Given the description of an element on the screen output the (x, y) to click on. 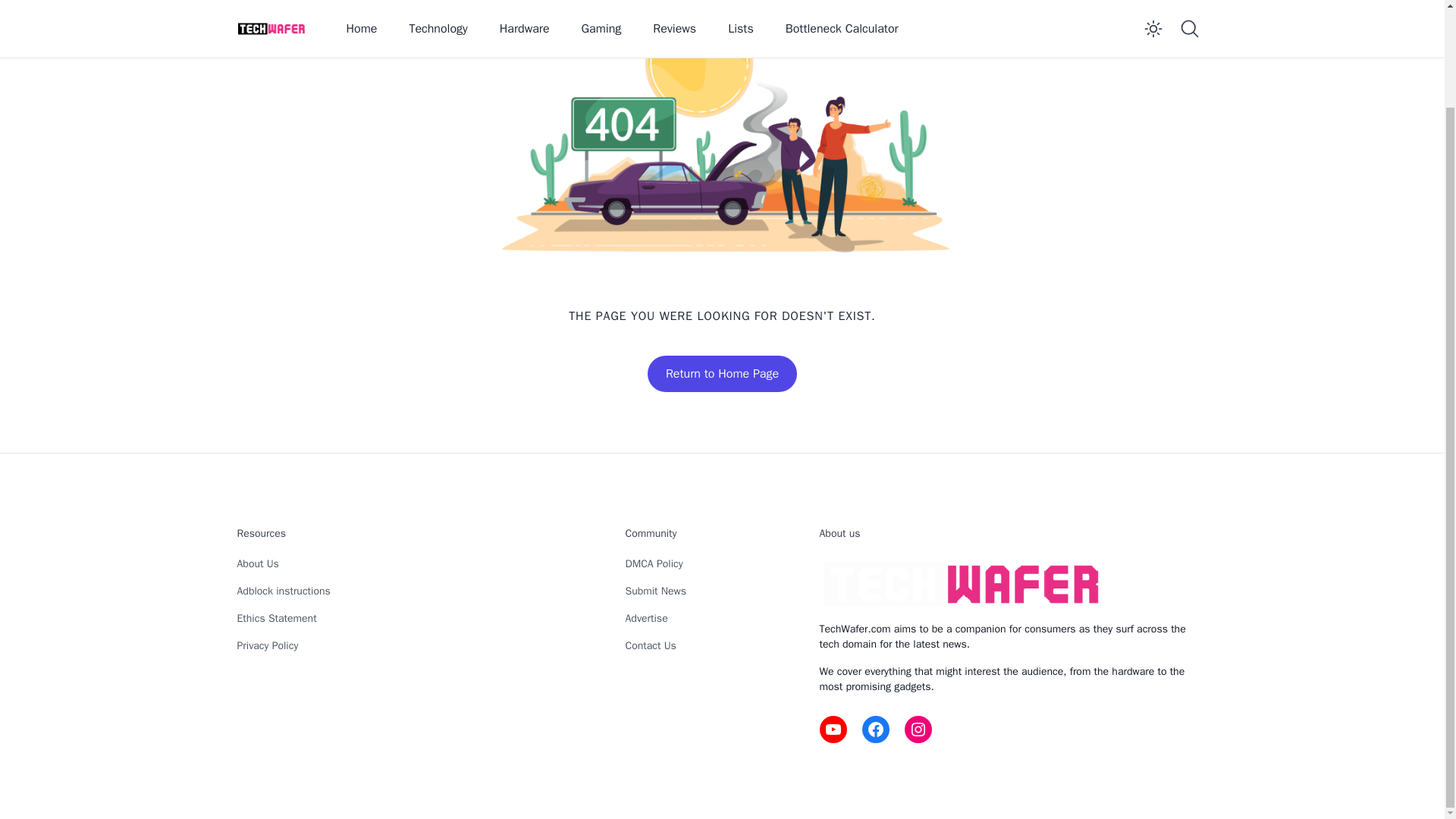
Ethics Statement (275, 617)
Adblock instructions (282, 590)
YouTube (831, 728)
Privacy Policy (266, 645)
Advertise (645, 617)
Instagram (917, 728)
About Us (256, 563)
Return to Home Page (721, 373)
Submit News (654, 590)
Facebook (874, 728)
